Given the description of an element on the screen output the (x, y) to click on. 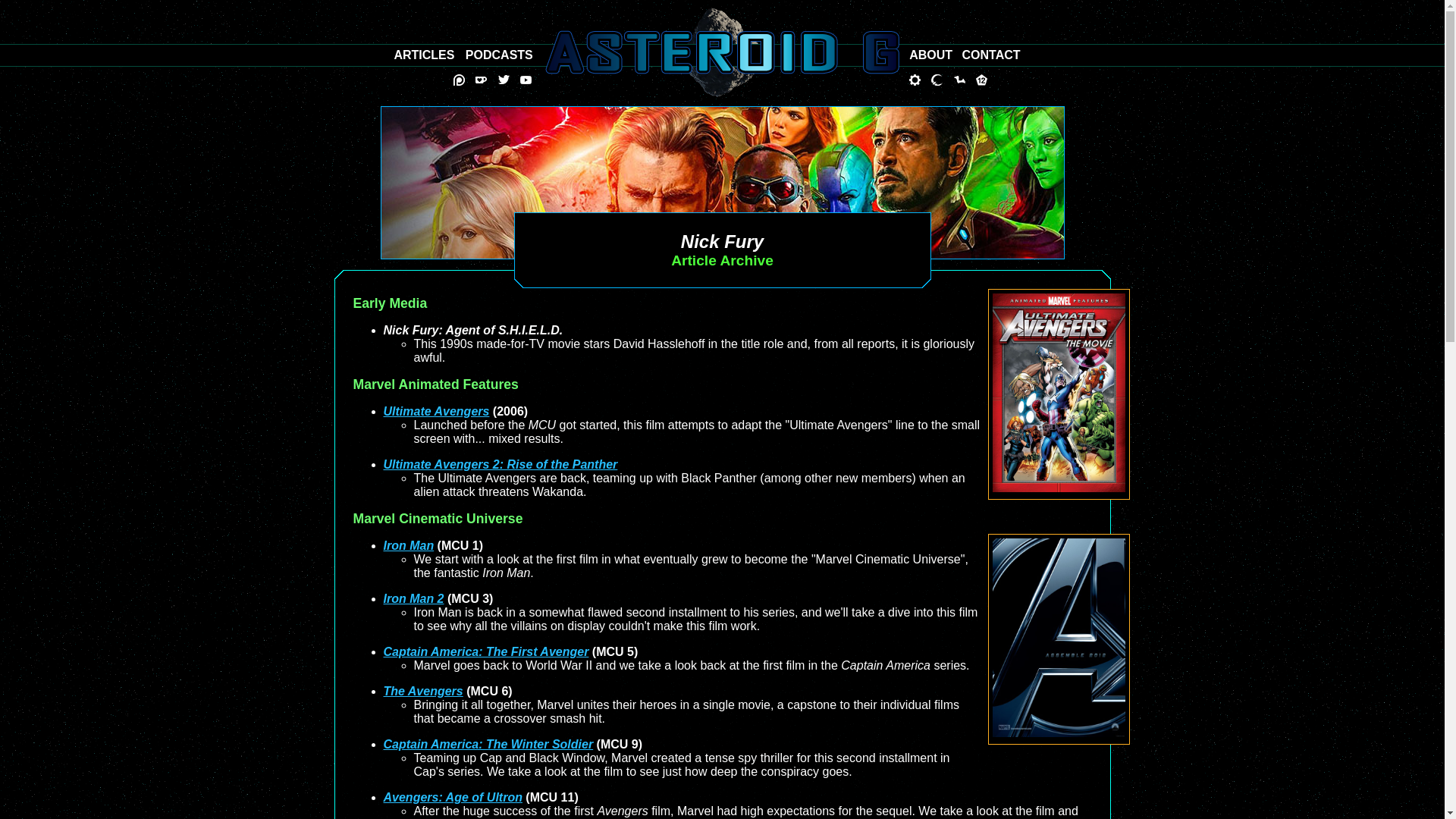
Ultimate Avengers 2: Rise of the Panther (500, 463)
Ultimate Avengers (436, 410)
Captain America: The Winter Soldier (489, 744)
Iron Man 2 (414, 598)
Achive (423, 55)
Iron Man (408, 545)
The Avengers (423, 690)
Avengers: Age of Ultron (453, 797)
Captain America: The First Avenger (486, 651)
